Given the description of an element on the screen output the (x, y) to click on. 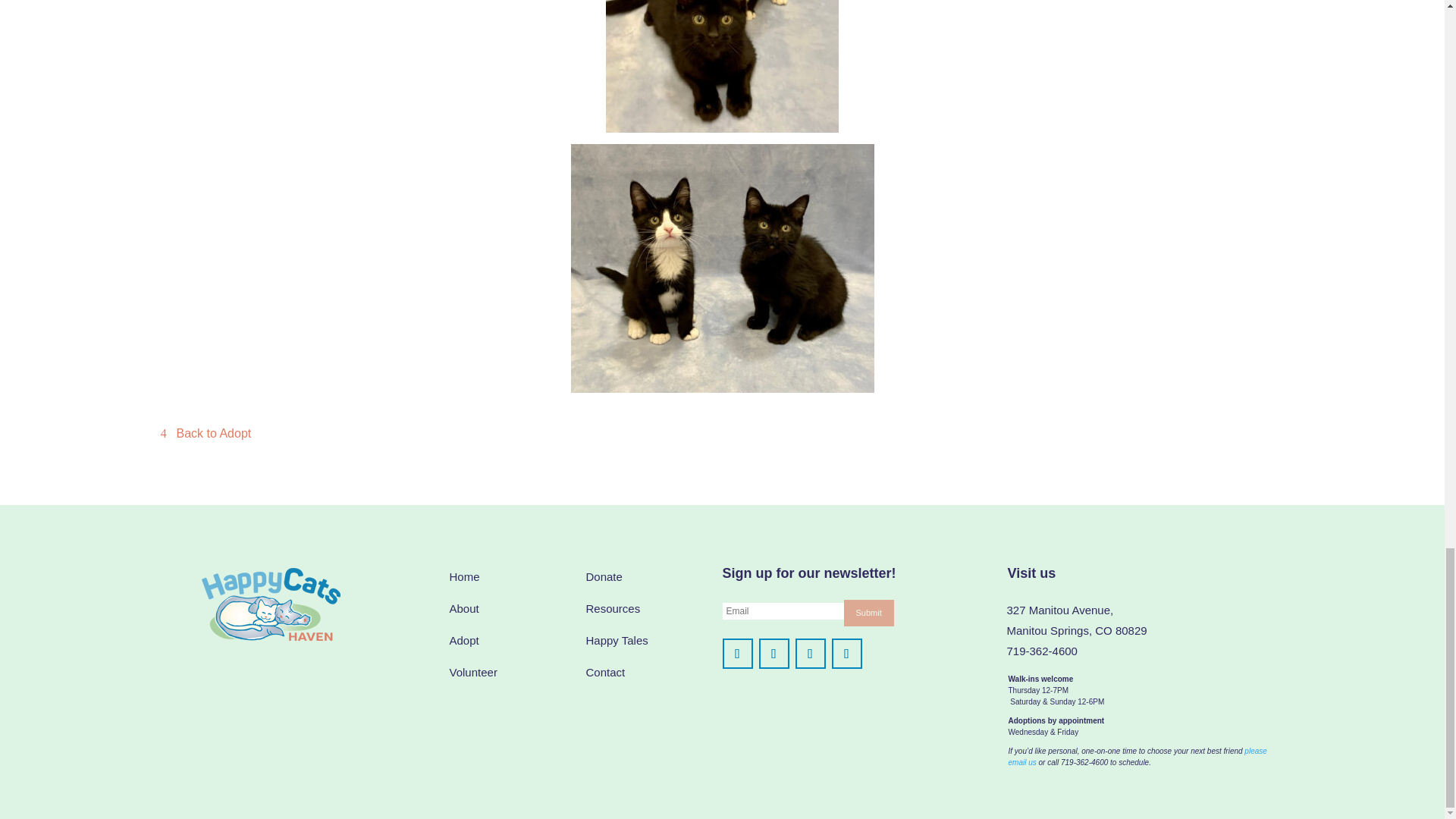
About (463, 608)
Volunteer (472, 671)
Follow on Facebook (737, 653)
Follow on Instagram (773, 653)
happycatslogoforced2 (270, 604)
Donate (603, 576)
Resources (612, 608)
Blog (616, 640)
Home (463, 576)
Adopt (463, 640)
Contact (604, 671)
Submit (868, 612)
